Given the description of an element on the screen output the (x, y) to click on. 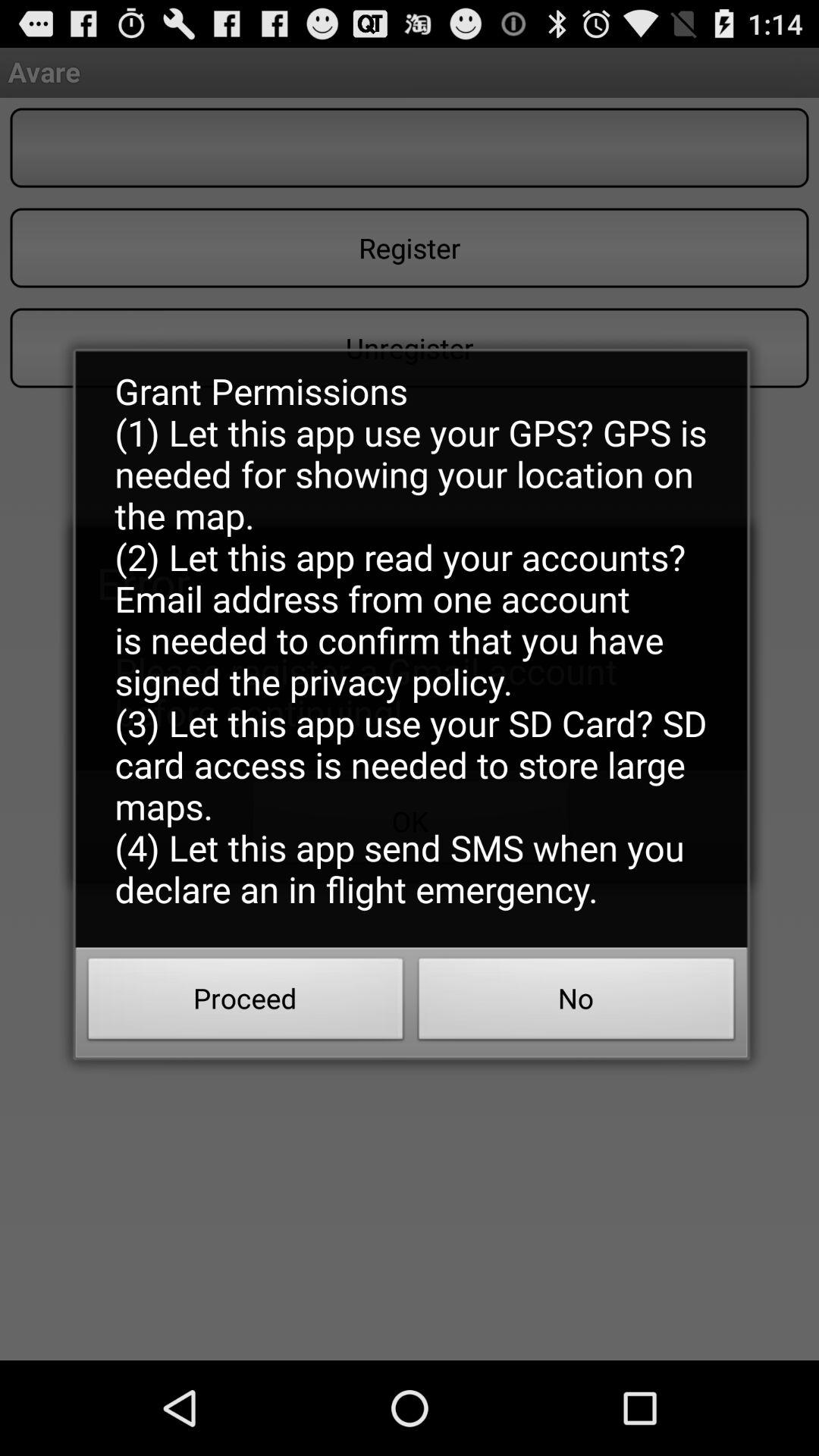
press proceed at the bottom left corner (245, 1003)
